Given the description of an element on the screen output the (x, y) to click on. 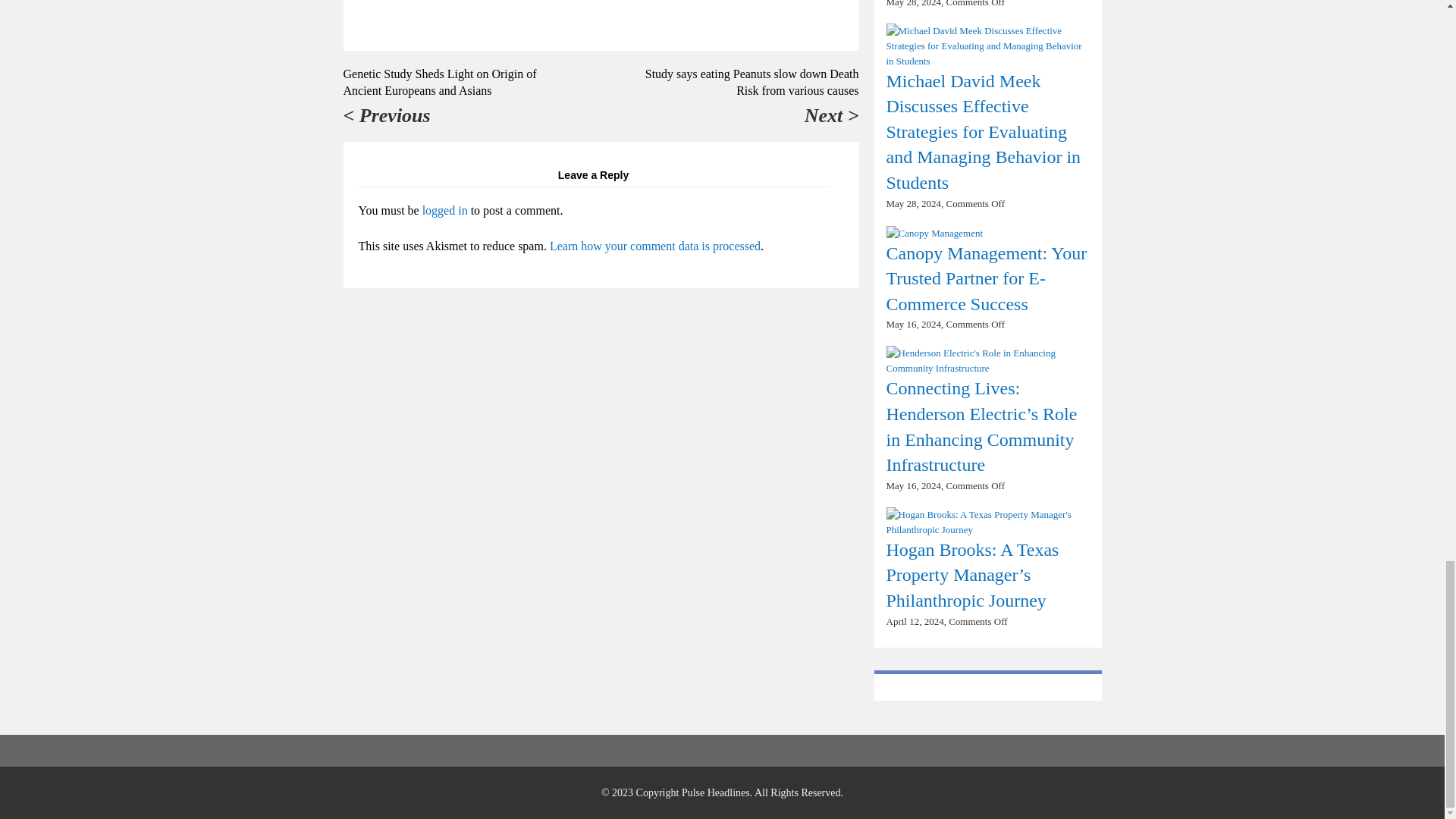
Learn how your comment data is processed (655, 245)
logged in (444, 210)
